Given the description of an element on the screen output the (x, y) to click on. 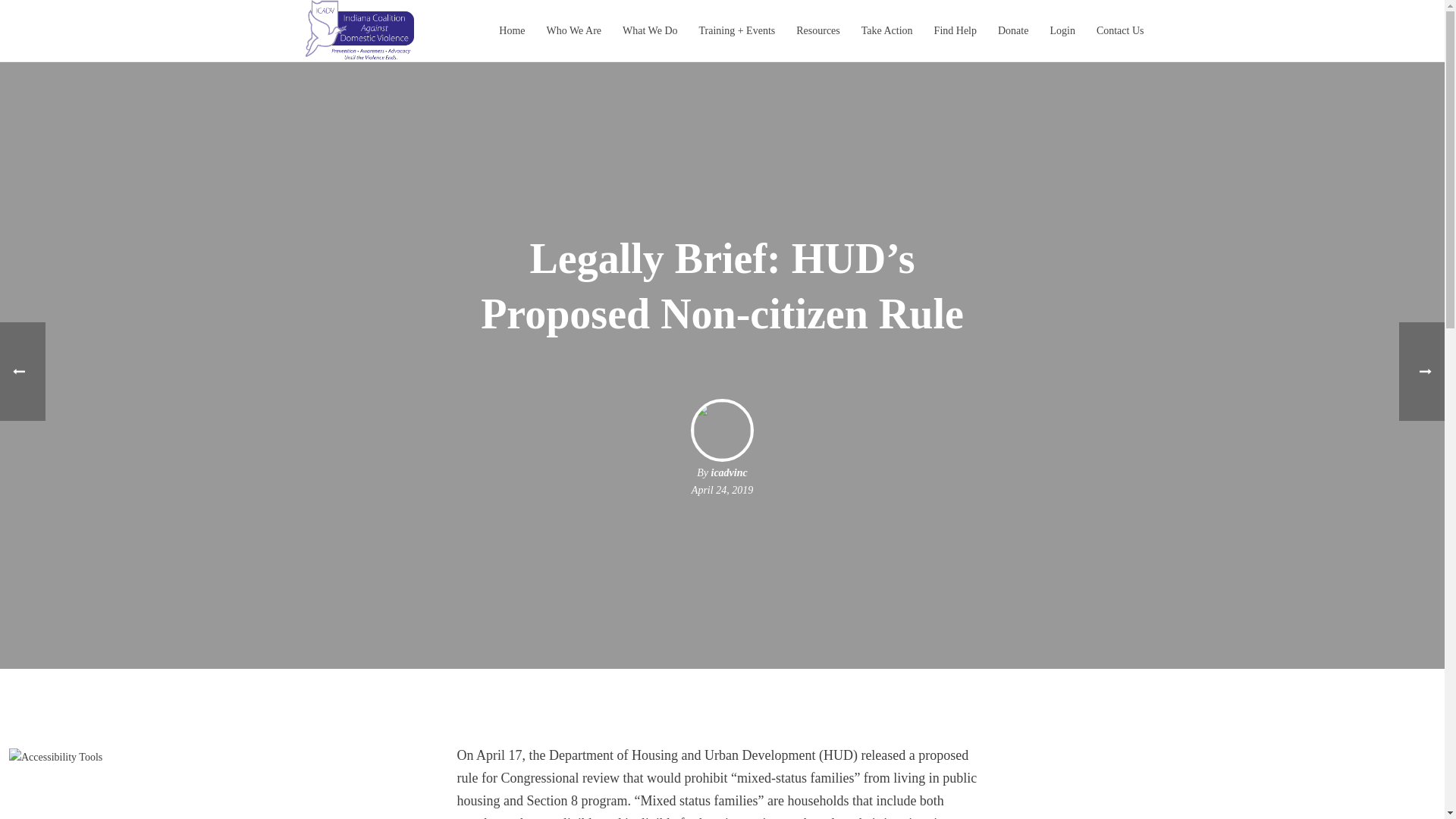
What We Do (649, 31)
Home (511, 31)
Home (511, 31)
What We Do (649, 31)
Take Action (886, 31)
Find Help (955, 31)
Donate (1013, 31)
Resources (818, 31)
Login (1061, 31)
Who We Are (573, 31)
